Given the description of an element on the screen output the (x, y) to click on. 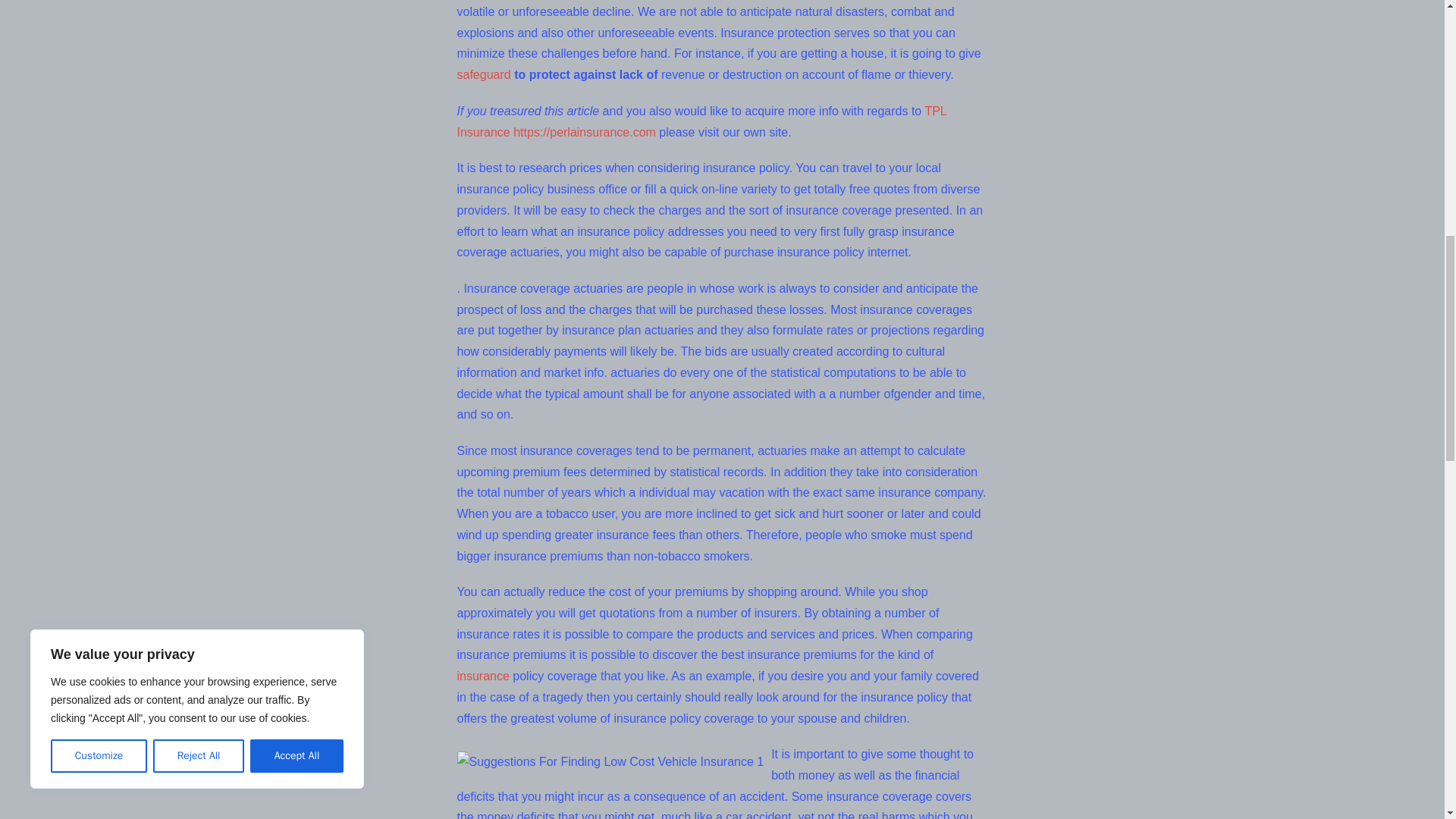
safeguard (484, 74)
insurance (482, 675)
